Given the description of an element on the screen output the (x, y) to click on. 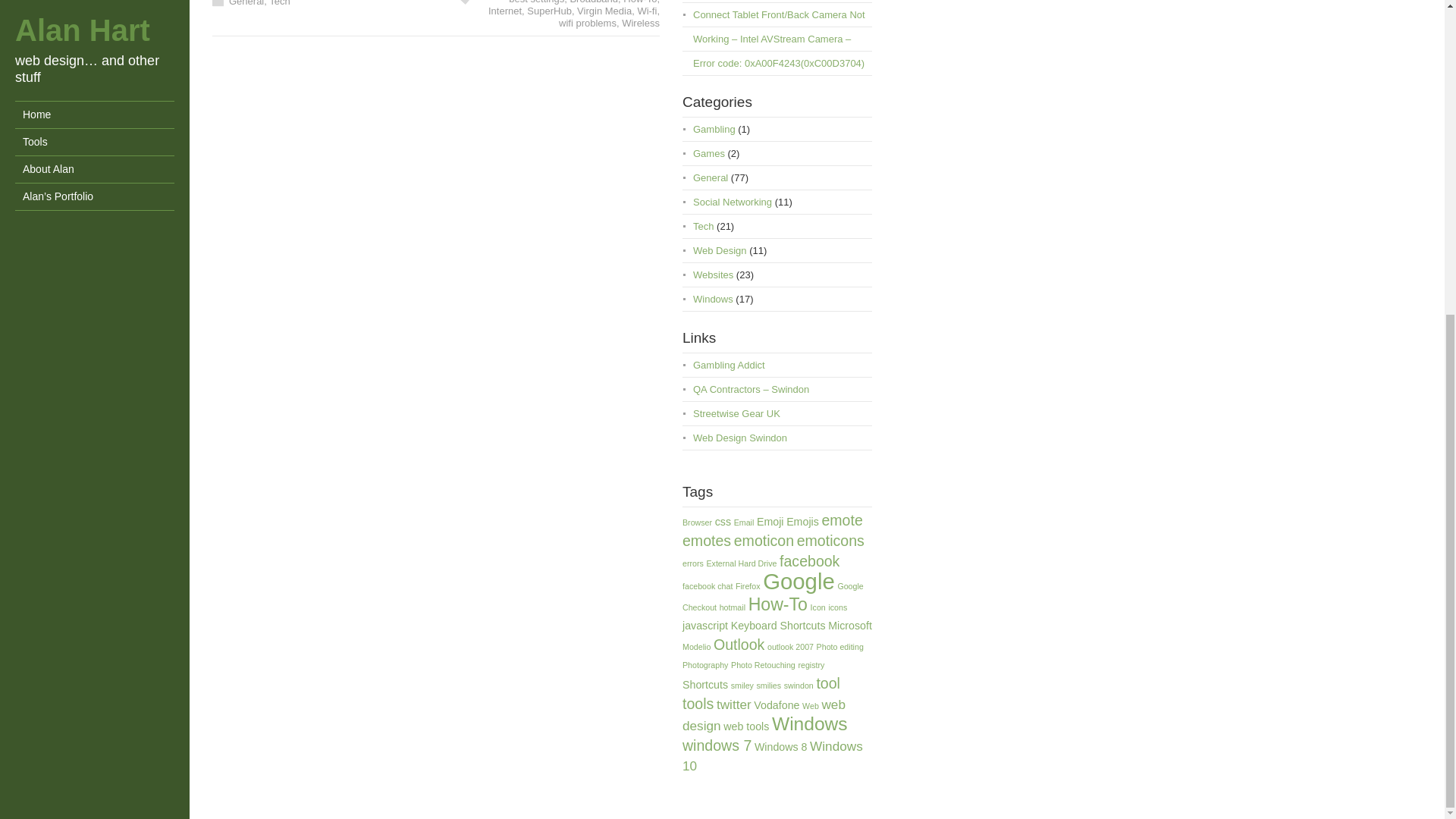
Wi-fi (646, 10)
Virgin Media (603, 10)
General (245, 3)
Web Design (719, 250)
SuperHub (549, 10)
Tech (279, 3)
General (710, 177)
Social Networking (732, 202)
How-To (639, 2)
Tech (703, 225)
Websites (713, 274)
Games (709, 153)
Windows (713, 298)
Streetwise Gear UK (736, 413)
Internet (504, 10)
